Given the description of an element on the screen output the (x, y) to click on. 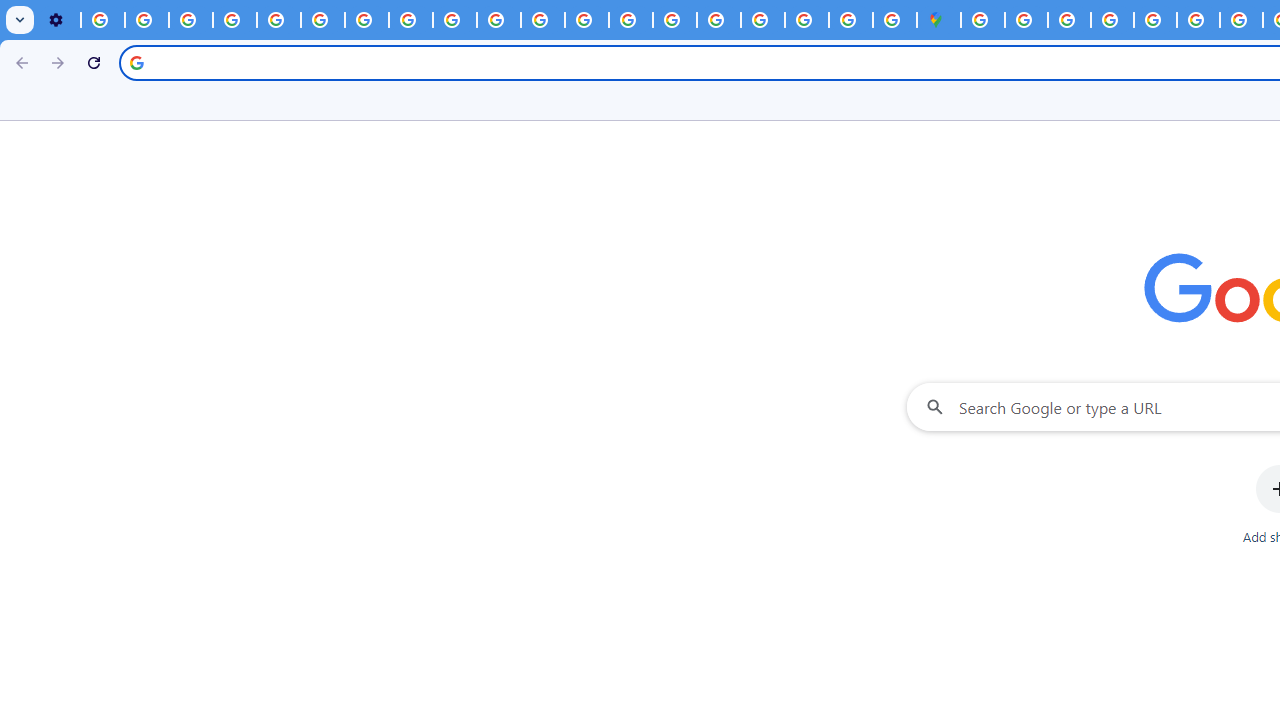
Learn how to find your photos - Google Photos Help (146, 20)
https://scholar.google.com/ (542, 20)
Delete photos & videos - Computer - Google Photos Help (102, 20)
Google Maps (938, 20)
YouTube (322, 20)
Privacy Help Center - Policies Help (586, 20)
Privacy Checkup (498, 20)
Sign in - Google Accounts (762, 20)
Sign in - Google Accounts (1026, 20)
